Given the description of an element on the screen output the (x, y) to click on. 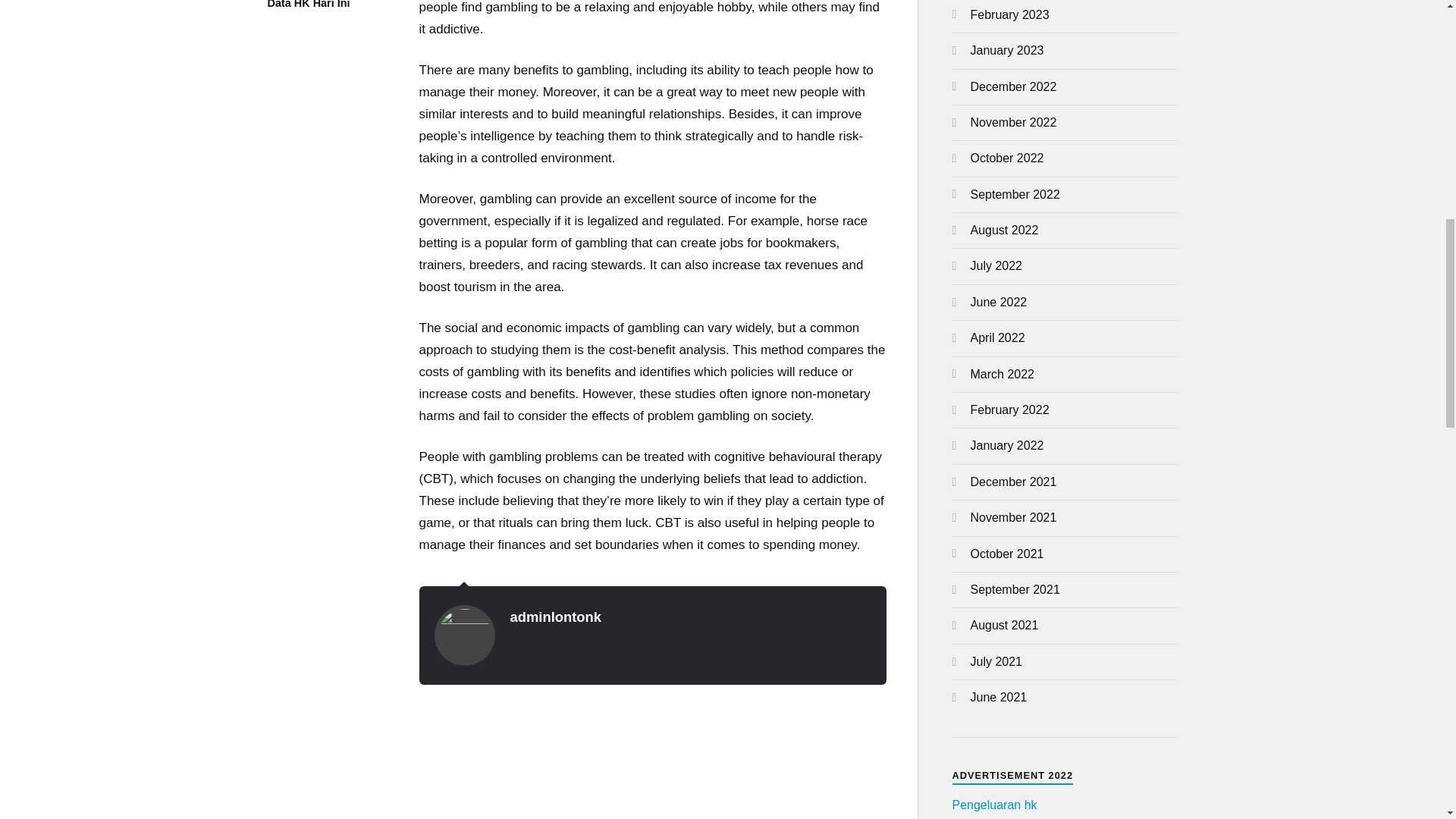
adminlontonk (555, 616)
February 2023 (1010, 14)
January 2023 (1007, 50)
October 2022 (1007, 157)
December 2022 (1014, 86)
November 2022 (1014, 122)
